Given the description of an element on the screen output the (x, y) to click on. 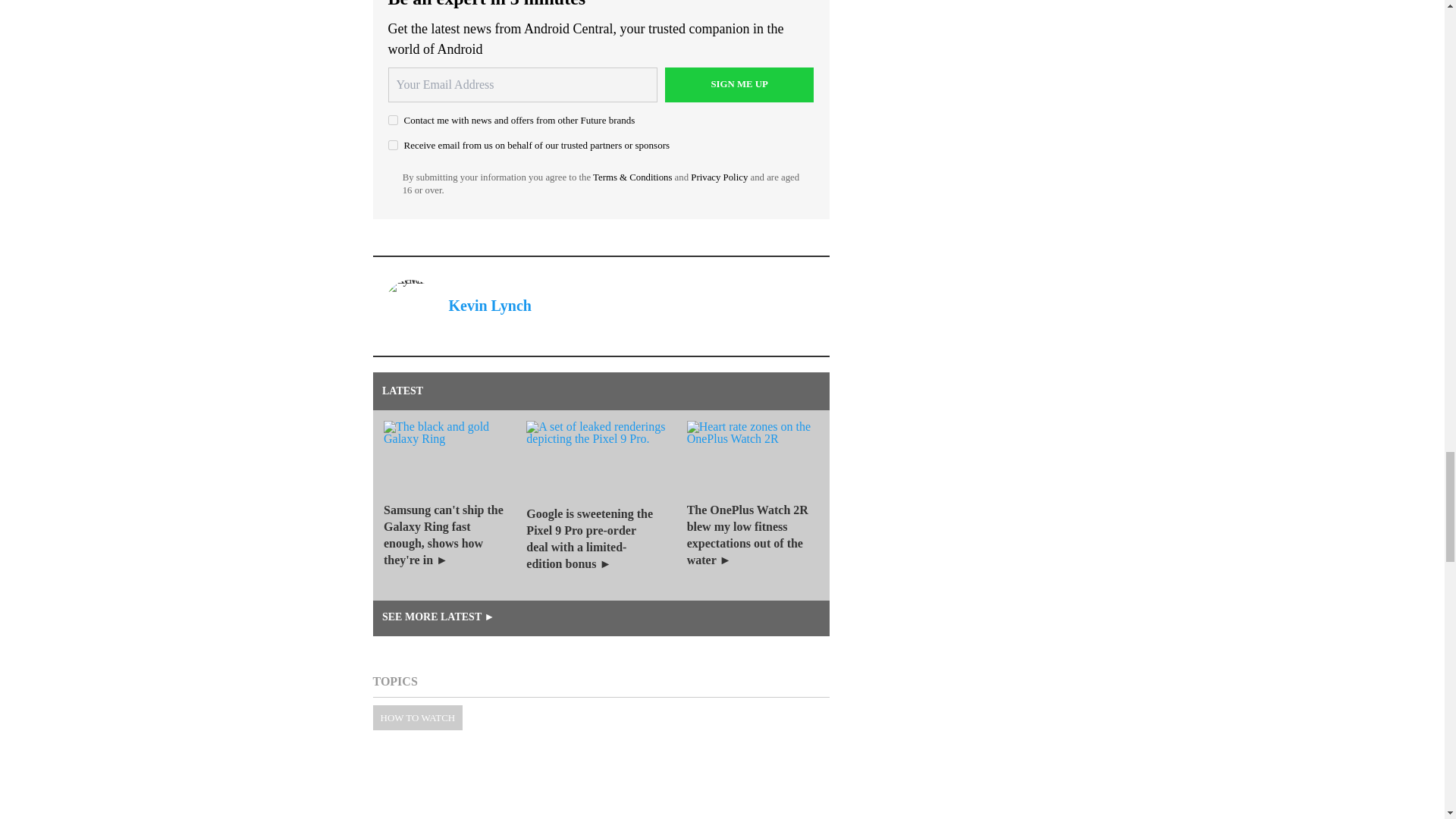
on (392, 144)
Sign me up (739, 84)
on (392, 120)
